Given the description of an element on the screen output the (x, y) to click on. 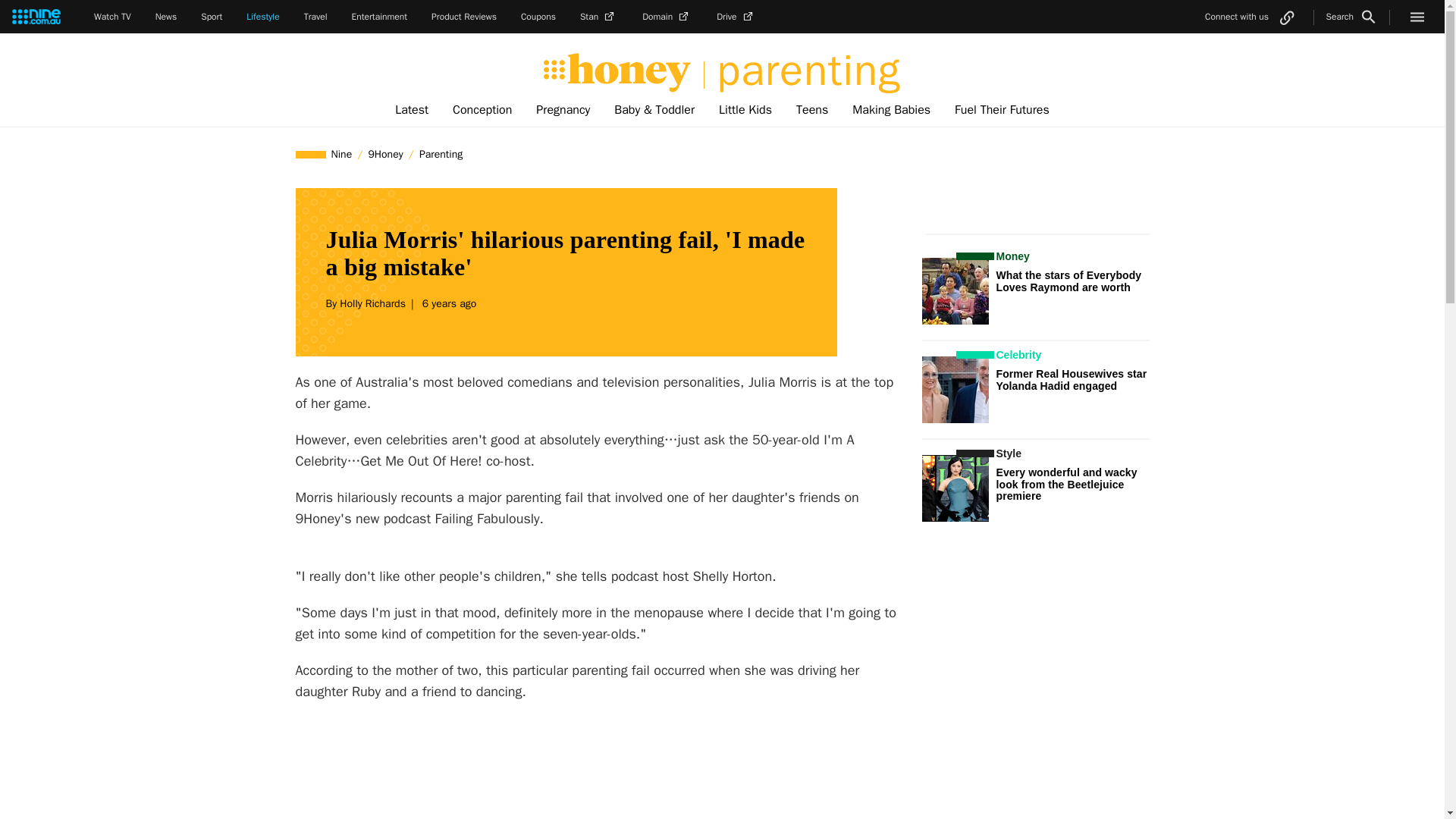
Stan (598, 16)
Lifestyle (262, 16)
Fuel Their Futures (1001, 109)
Drive (735, 16)
Coupons (538, 16)
2018-10-05 08:32 (446, 303)
Little Kids (745, 109)
Entertainment (379, 16)
Domain (667, 16)
9Honey (384, 154)
